Given the description of an element on the screen output the (x, y) to click on. 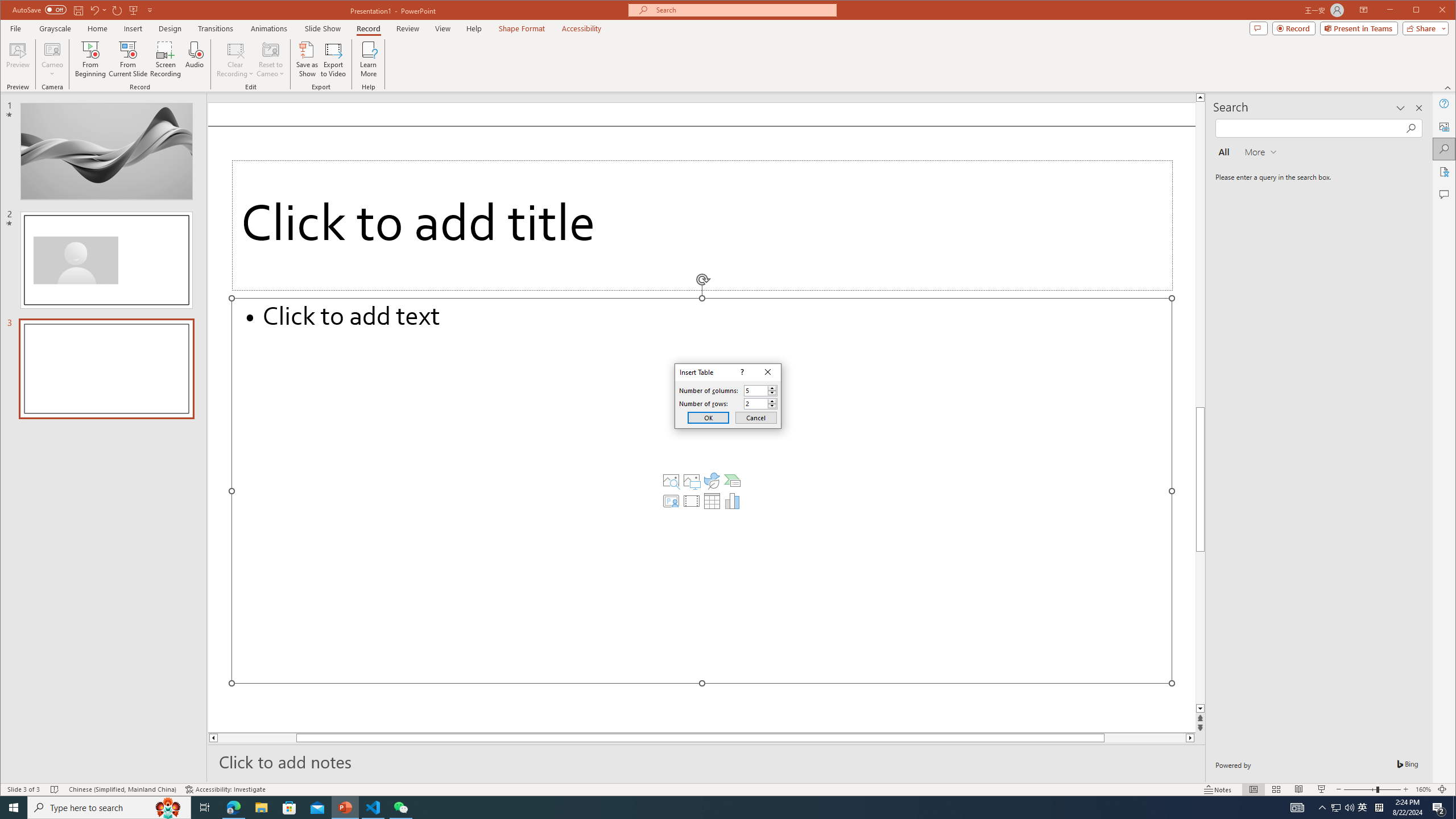
Less (772, 405)
Microsoft Edge - 1 running window (233, 807)
